Given the description of an element on the screen output the (x, y) to click on. 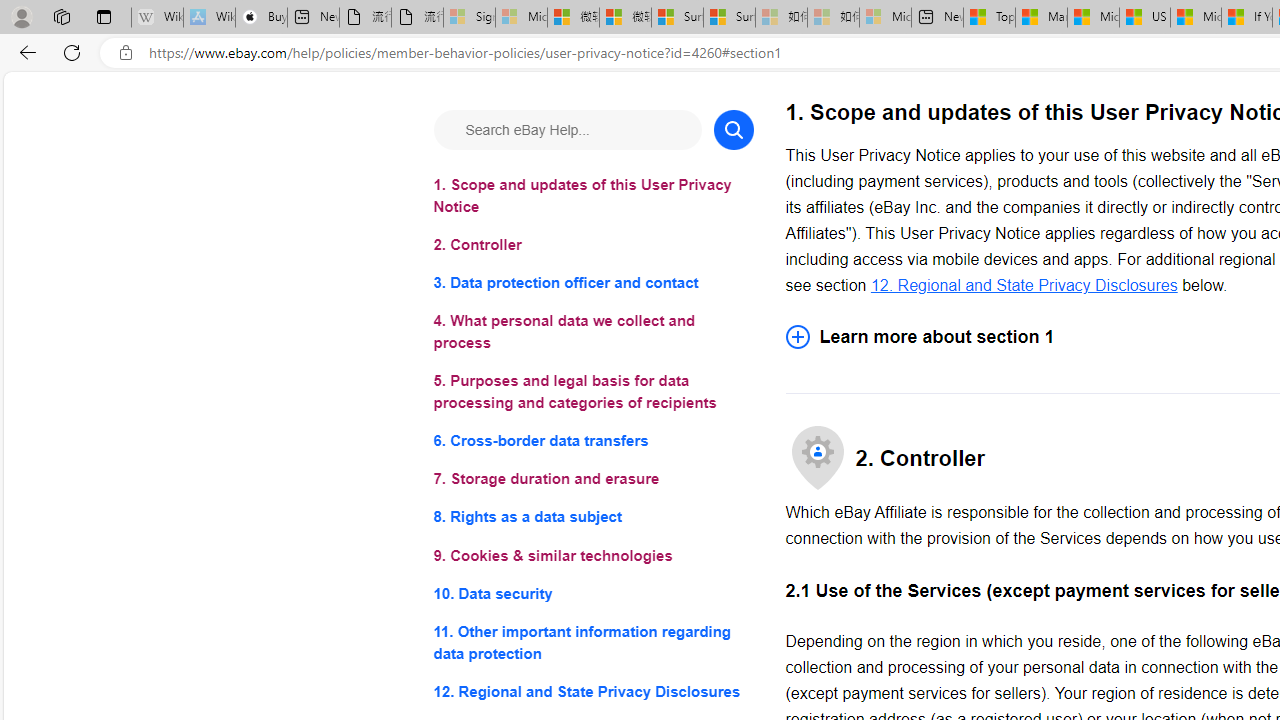
8. Rights as a data subject (592, 517)
12. Regional and State Privacy Disclosures (1023, 284)
Buy iPad - Apple (260, 17)
3. Data protection officer and contact (592, 283)
11. Other important information regarding data protection (592, 642)
7. Storage duration and erasure (592, 479)
10. Data security (592, 592)
11. Other important information regarding data protection (592, 642)
3. Data protection officer and contact (592, 283)
2. Controller (592, 245)
